Given the description of an element on the screen output the (x, y) to click on. 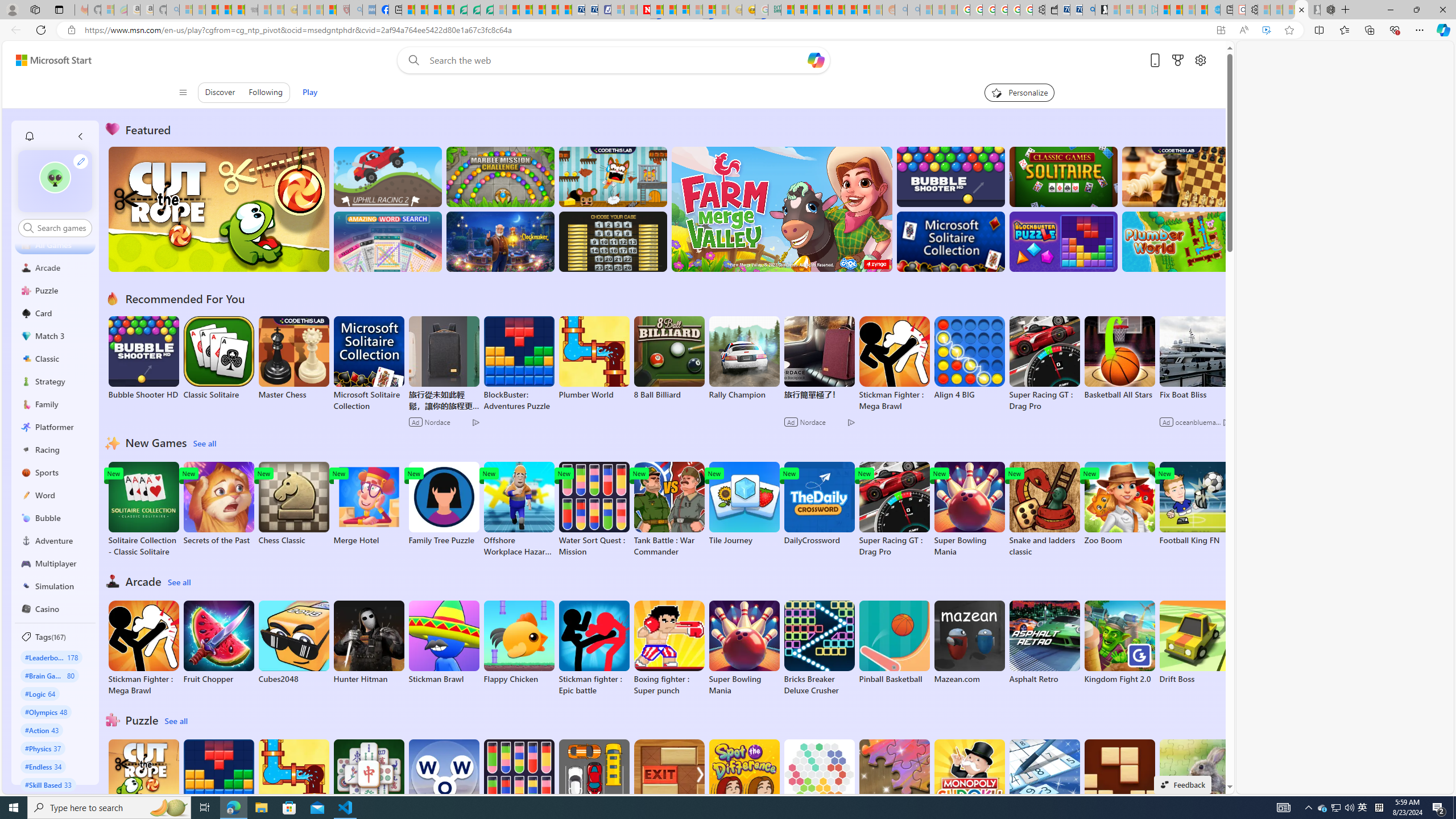
Cheap Hotels - Save70.com (590, 9)
Play (309, 92)
Wallet (1050, 9)
Boxing fighter : Super punch (668, 648)
Super Bowling Mania (744, 648)
Stickman Brawl (443, 642)
